Given the description of an element on the screen output the (x, y) to click on. 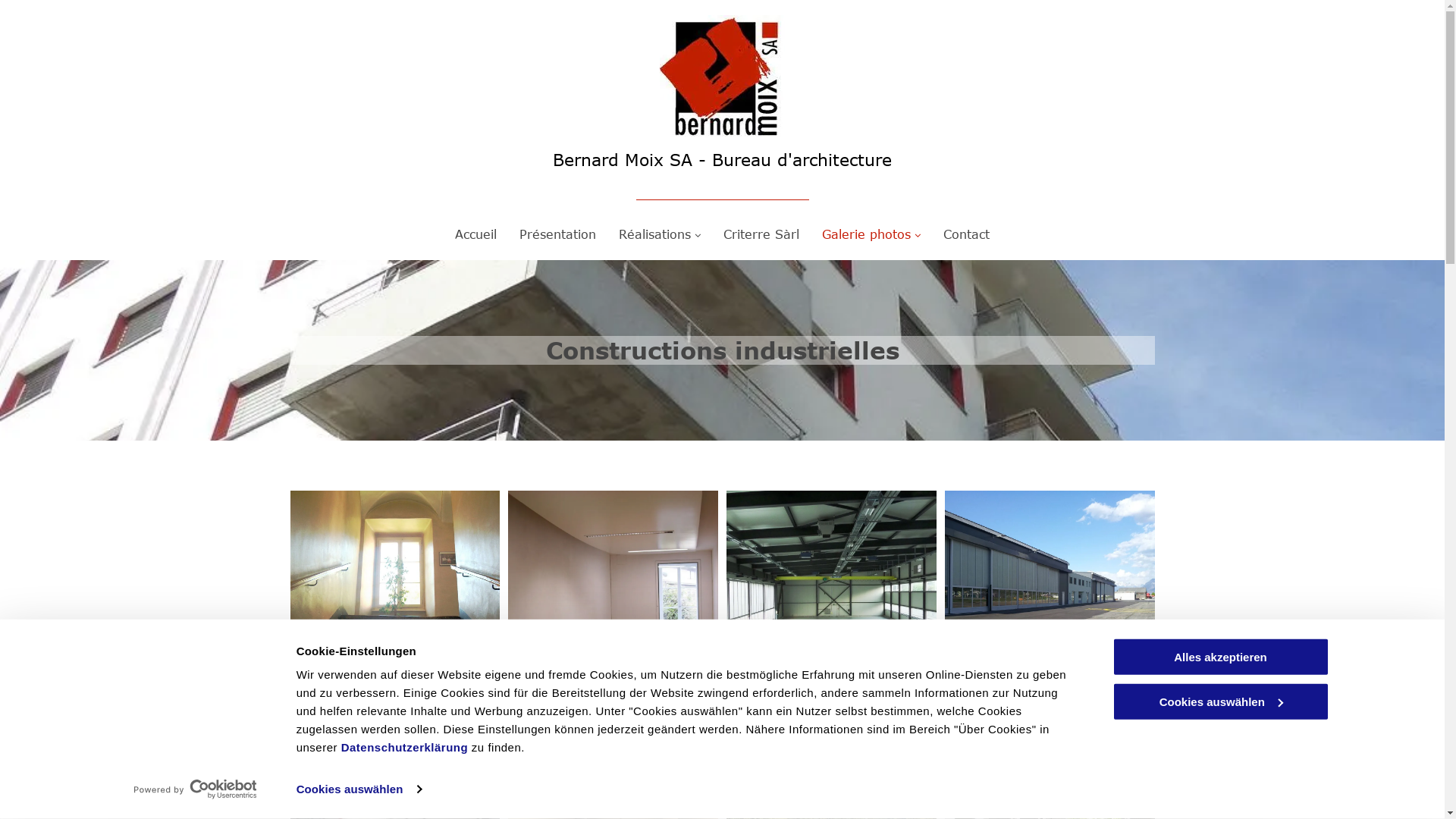
Galerie photos Element type: text (871, 234)
Bernard Moix SA - Bureau d'architecture Element type: text (721, 159)
Accueil Element type: text (475, 234)
Contact Element type: text (966, 234)
Alles akzeptieren Element type: text (1219, 656)
